Given the description of an element on the screen output the (x, y) to click on. 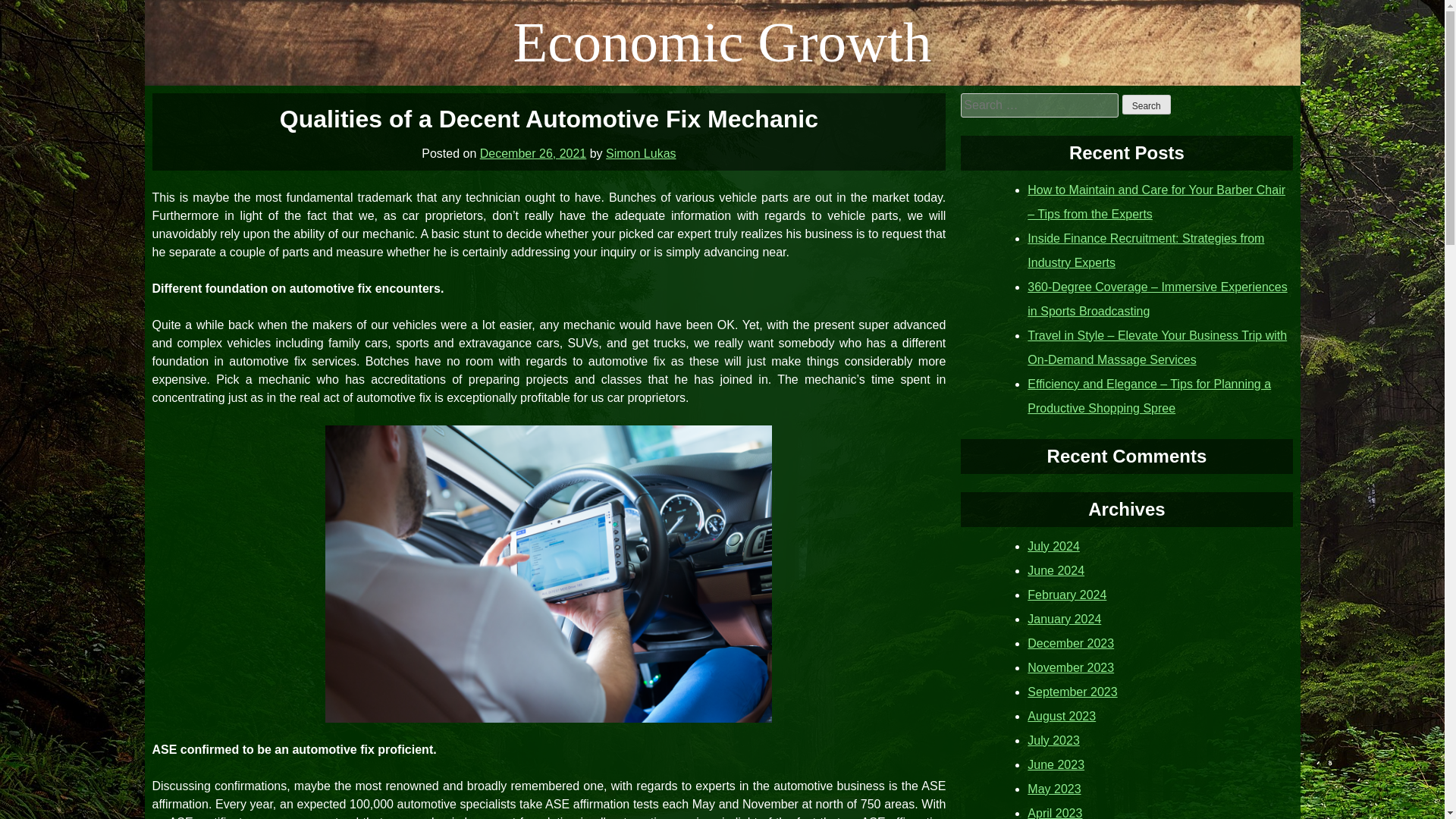
September 2023 (1071, 691)
December 26, 2021 (533, 153)
February 2024 (1066, 594)
May 2023 (1053, 788)
Search (1146, 104)
July 2024 (1053, 545)
Economic Growth (722, 41)
January 2024 (1063, 618)
April 2023 (1054, 812)
August 2023 (1061, 716)
